Given the description of an element on the screen output the (x, y) to click on. 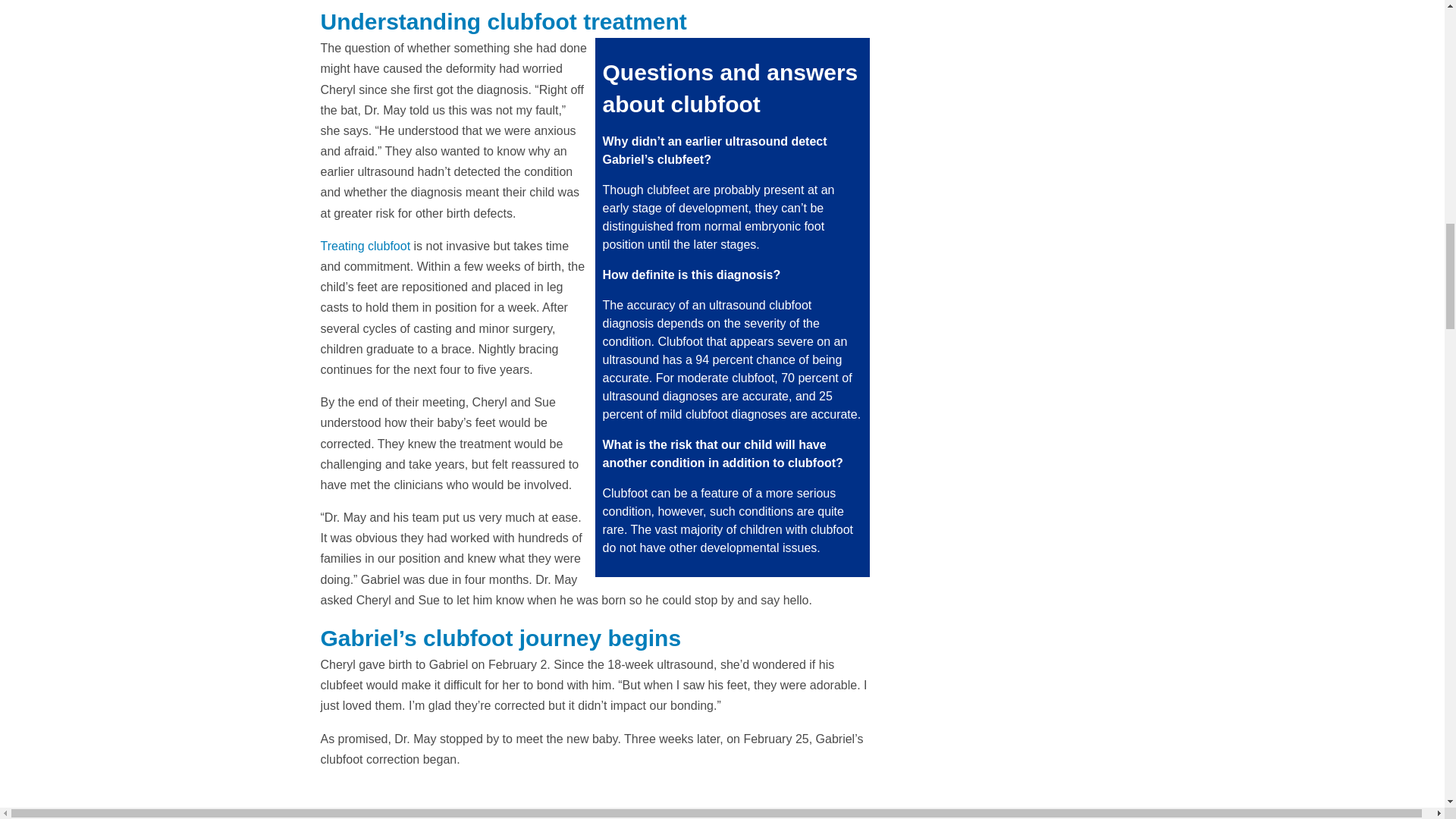
Treating clubfoot (365, 245)
